Given the description of an element on the screen output the (x, y) to click on. 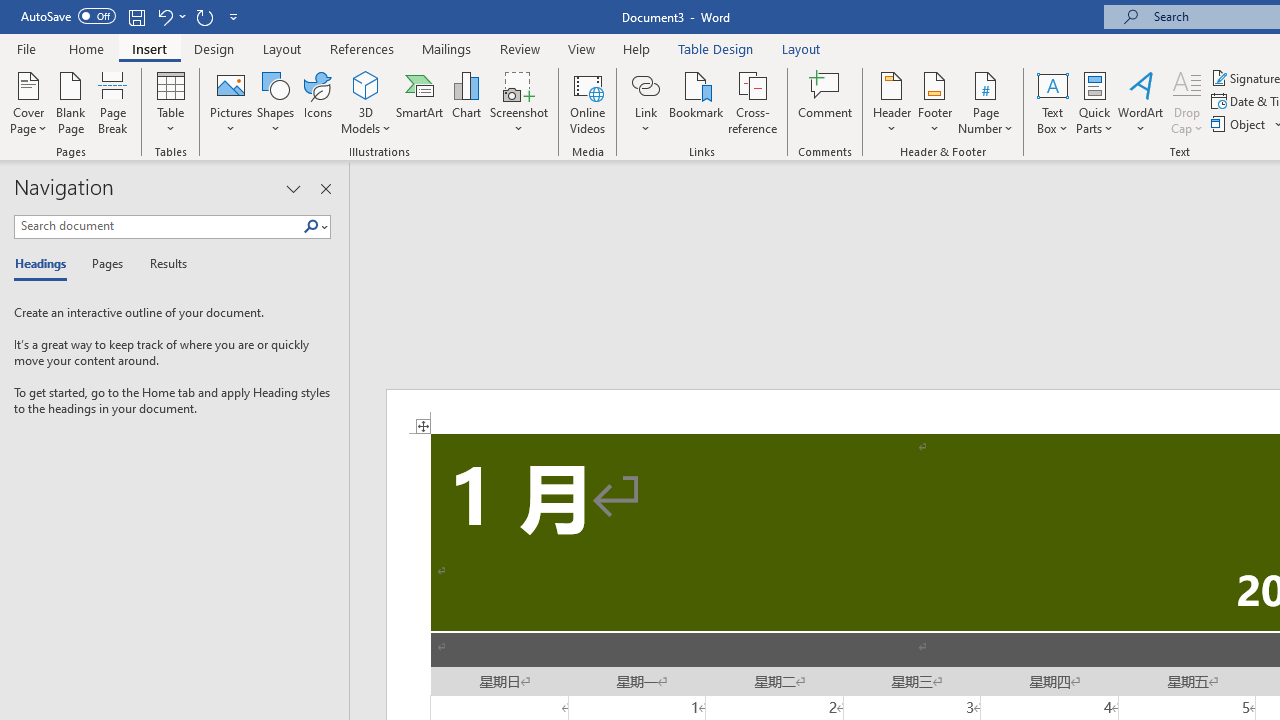
Link (645, 102)
3D Models (366, 102)
Pictures (230, 102)
SmartArt... (419, 102)
Link (645, 84)
Page Break (113, 102)
Drop Cap (1187, 102)
Undo Increase Indent (170, 15)
Bookmark... (695, 102)
Page Number (986, 102)
Icons (317, 102)
